Given the description of an element on the screen output the (x, y) to click on. 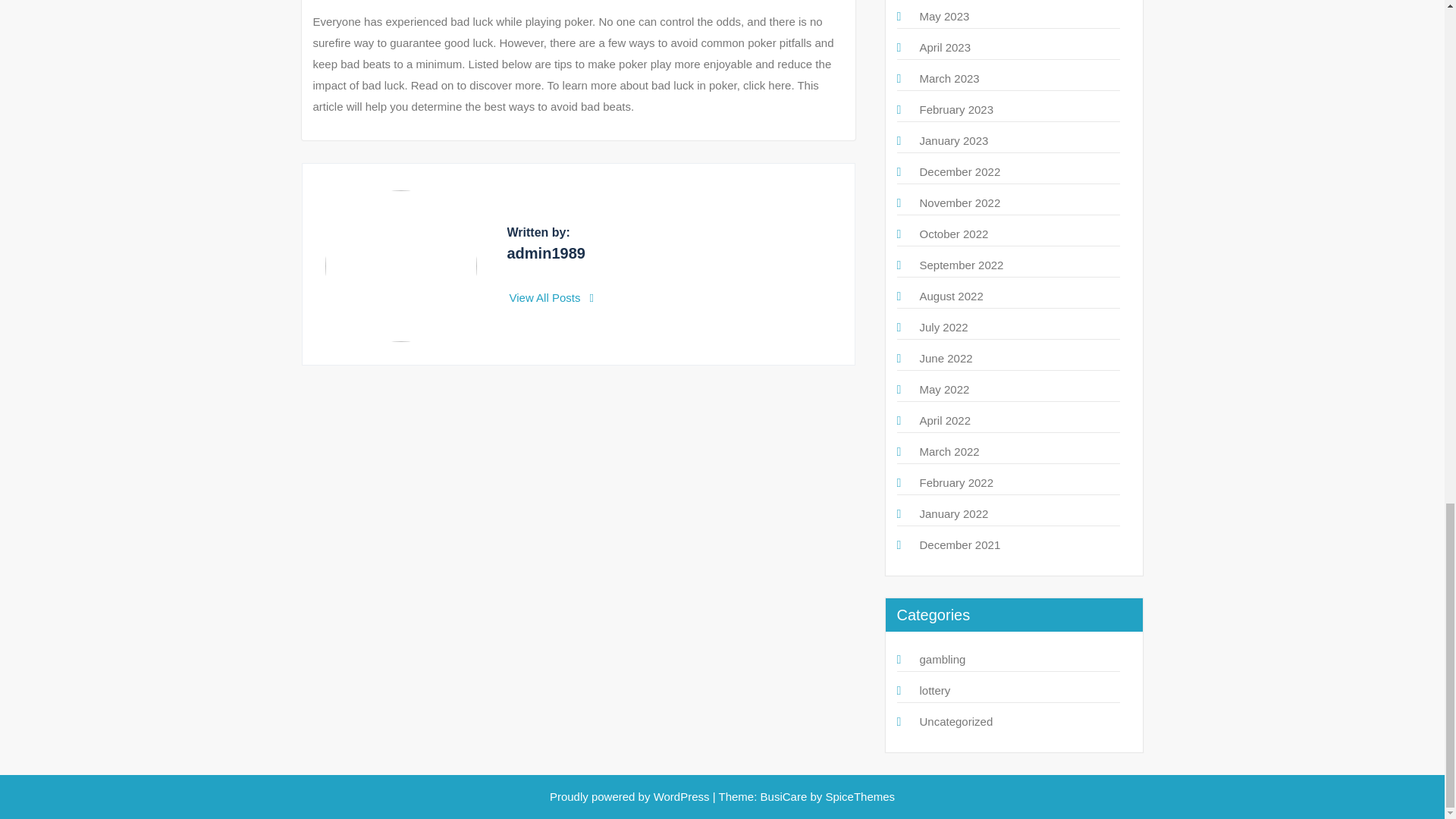
April 2023 (944, 47)
November 2022 (959, 202)
View All Posts (551, 297)
December 2022 (959, 171)
January 2023 (953, 140)
May 2023 (943, 15)
March 2023 (948, 78)
February 2023 (955, 109)
